Given the description of an element on the screen output the (x, y) to click on. 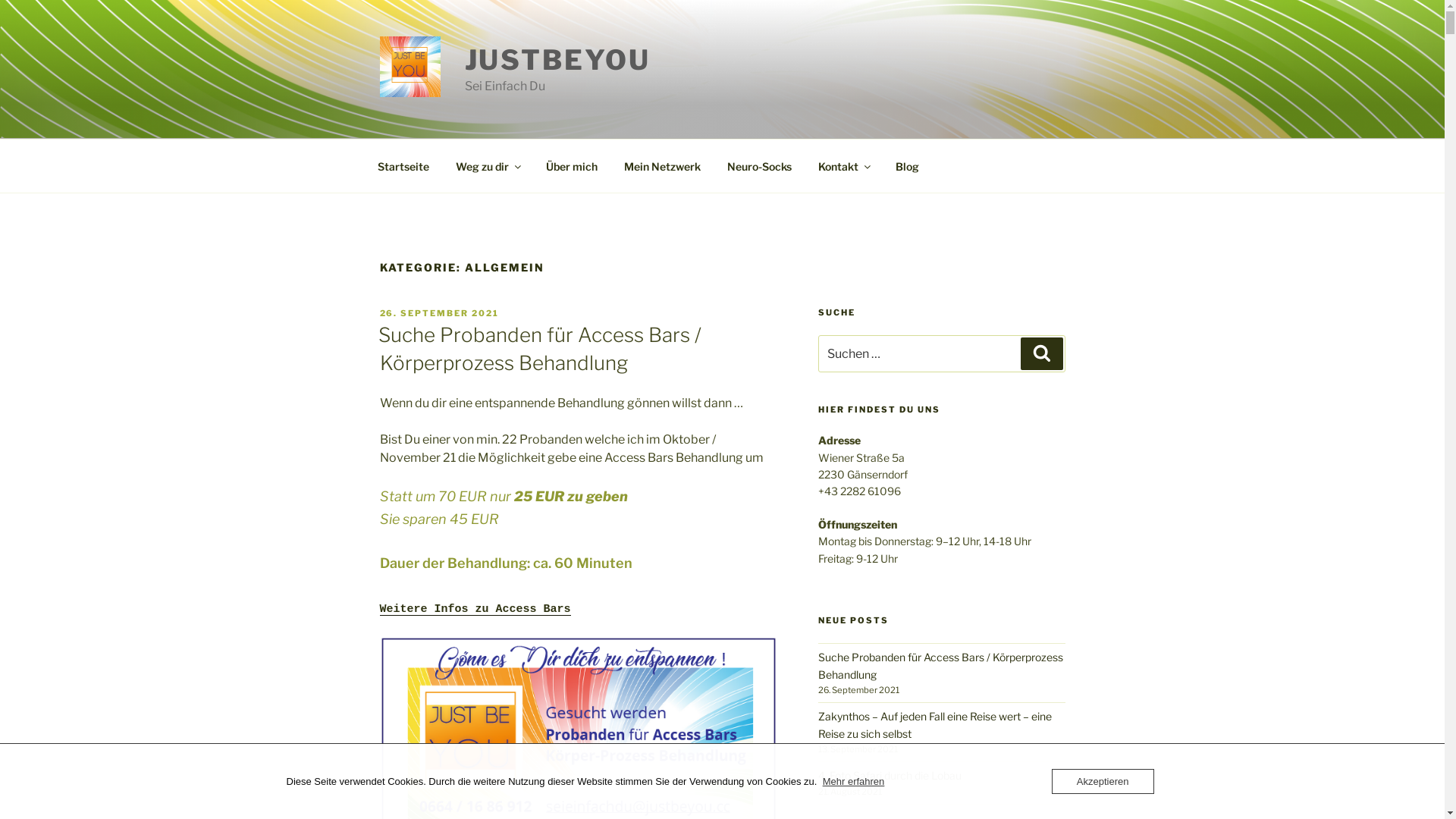
Akzeptieren Element type: text (1102, 780)
Weitere Infos zu Access Bars Element type: text (474, 608)
Weg zu dir Element type: text (487, 165)
Mein Netzwerk Element type: text (662, 165)
4. Foto Safari durch die Lobau Element type: text (889, 774)
26. SEPTEMBER 2021 Element type: text (438, 312)
Kontakt Element type: text (843, 165)
JUSTBEYOU Element type: text (556, 59)
Startseite Element type: text (403, 165)
Suchen Element type: text (1041, 353)
Mehr erfahren Element type: text (853, 780)
Blog Element type: text (907, 165)
Neuro-Socks Element type: text (759, 165)
